Given the description of an element on the screen output the (x, y) to click on. 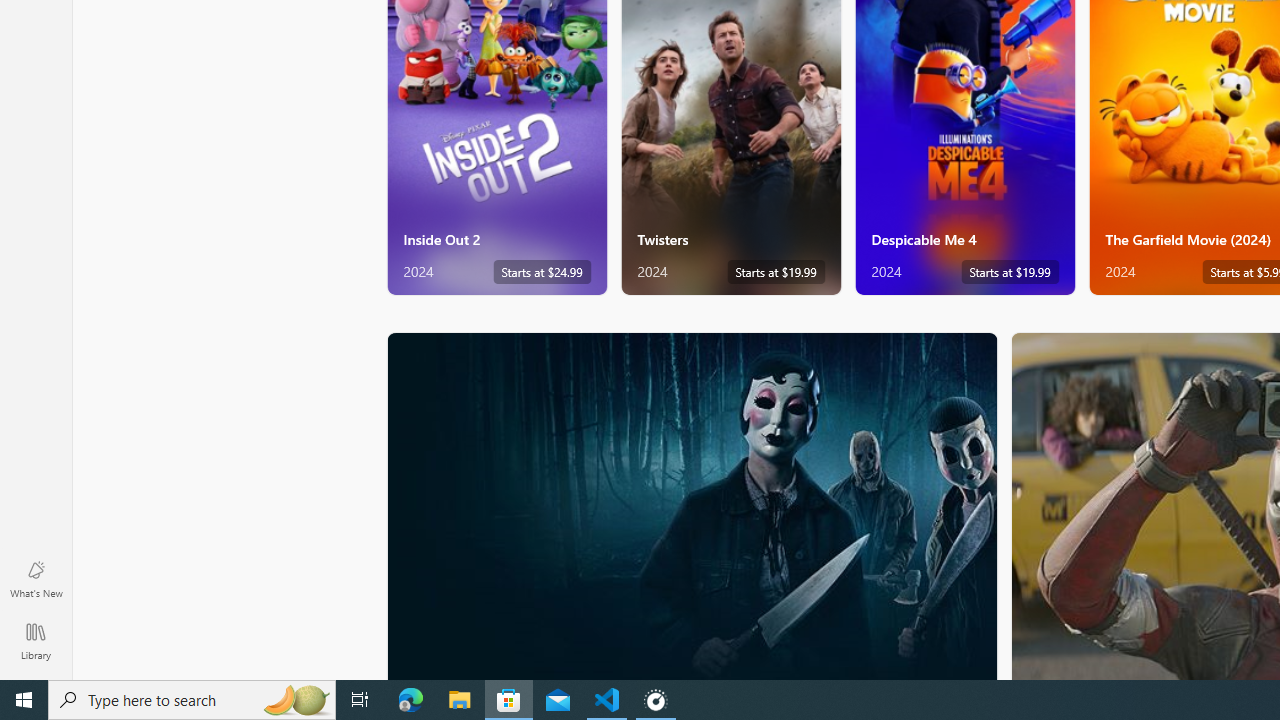
Horror (692, 505)
AutomationID: PosterImage (690, 505)
